Given the description of an element on the screen output the (x, y) to click on. 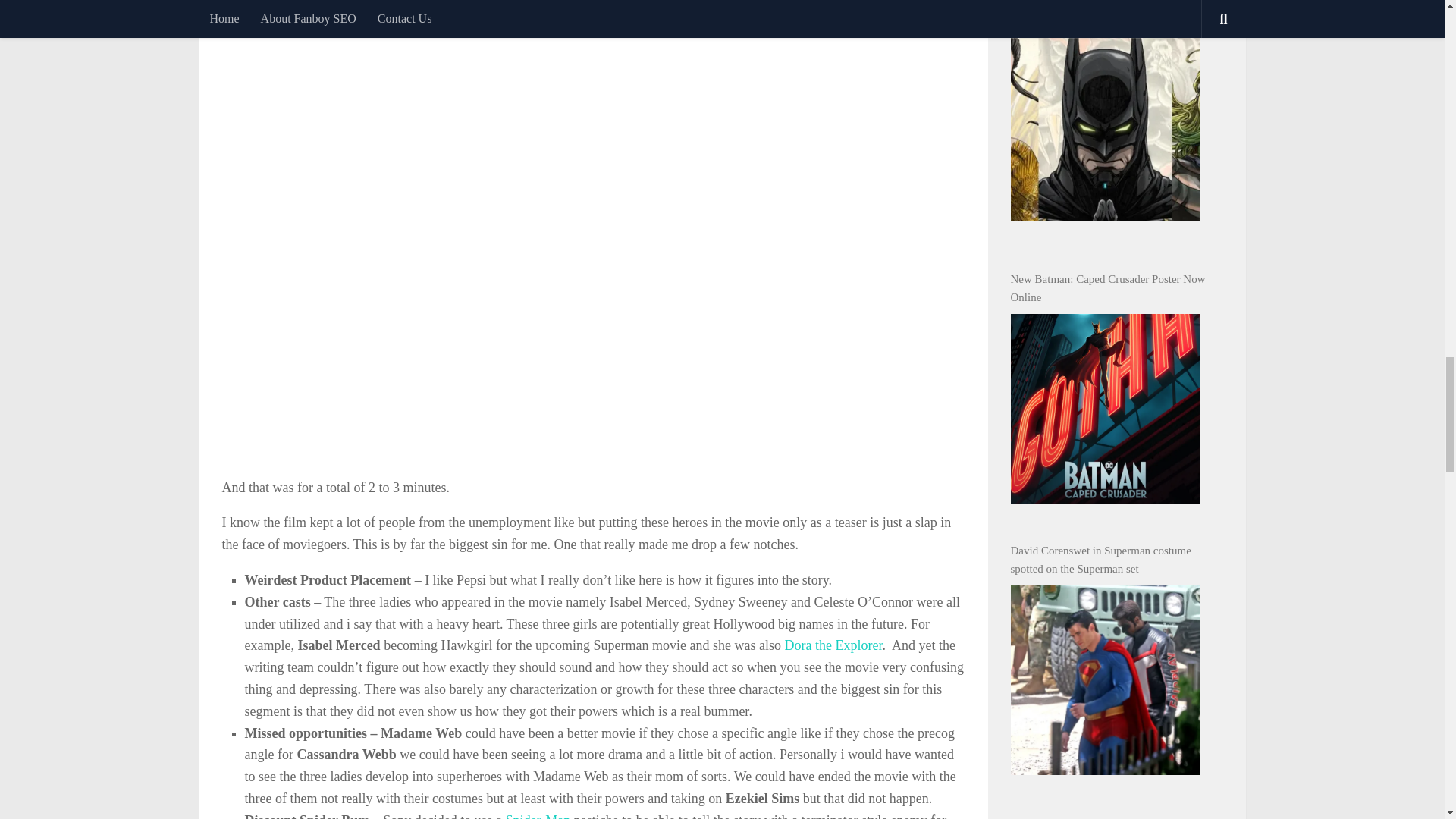
Dora the Explorer (833, 645)
Spider-Man (537, 816)
